Given the description of an element on the screen output the (x, y) to click on. 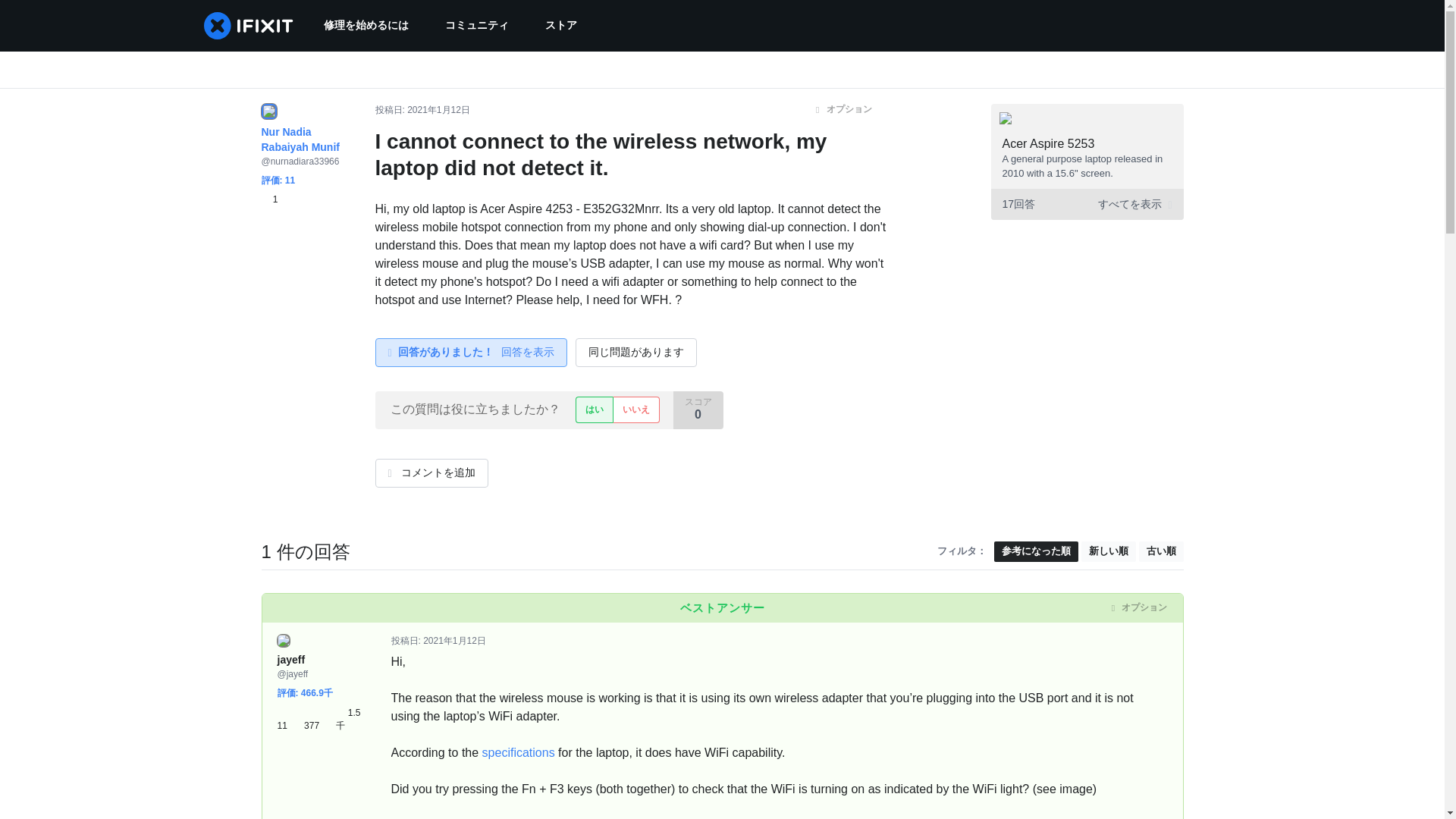
specifications (517, 752)
Tue, 12 Jan 2021 21:14:48 -0700 (454, 640)
Acer Aspire 5253 (1048, 143)
1 (269, 199)
Tue, 12 Jan 2021 16:57:06 -0700 (438, 109)
